Given the description of an element on the screen output the (x, y) to click on. 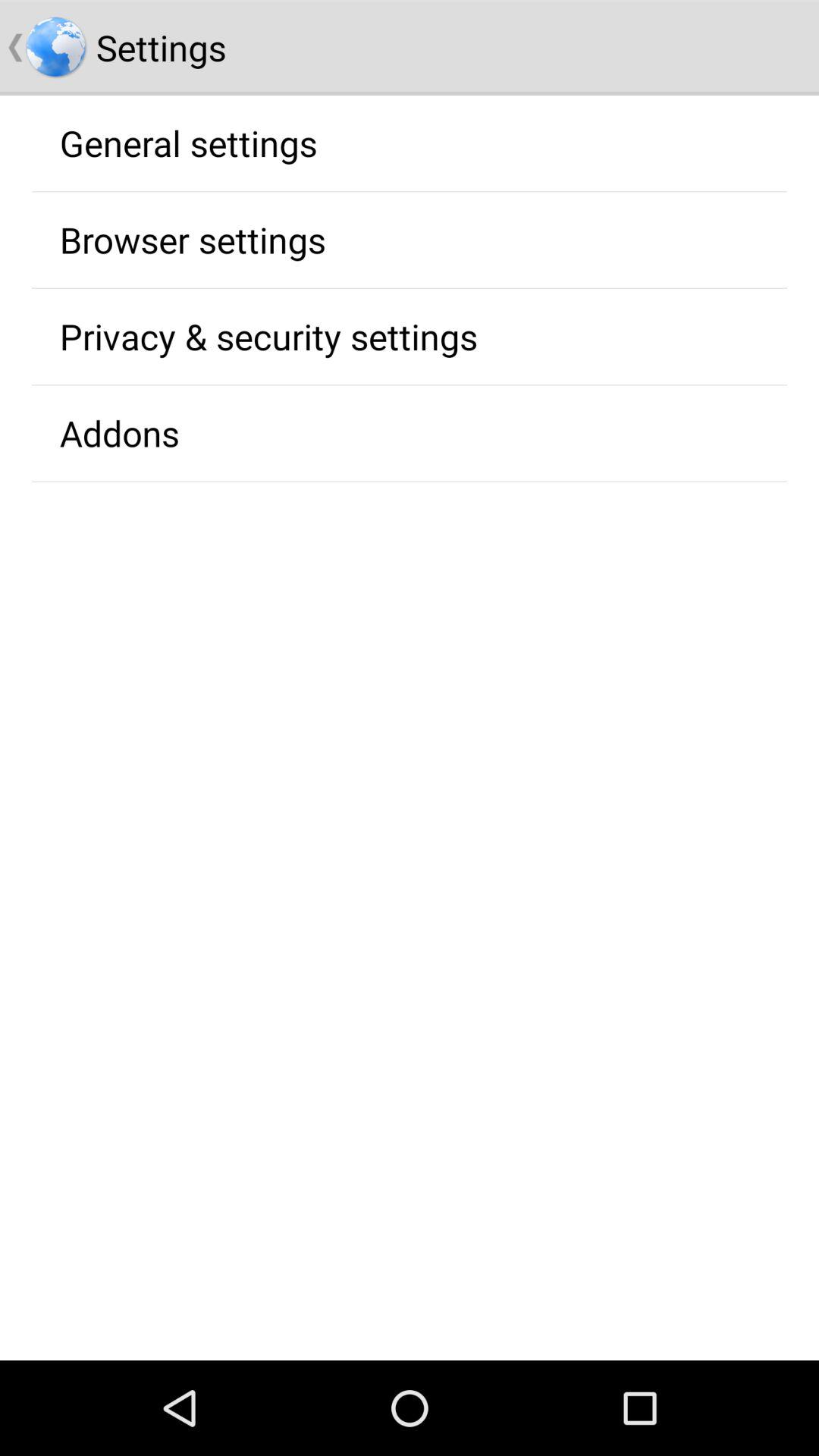
press the icon below general settings icon (192, 239)
